Given the description of an element on the screen output the (x, y) to click on. 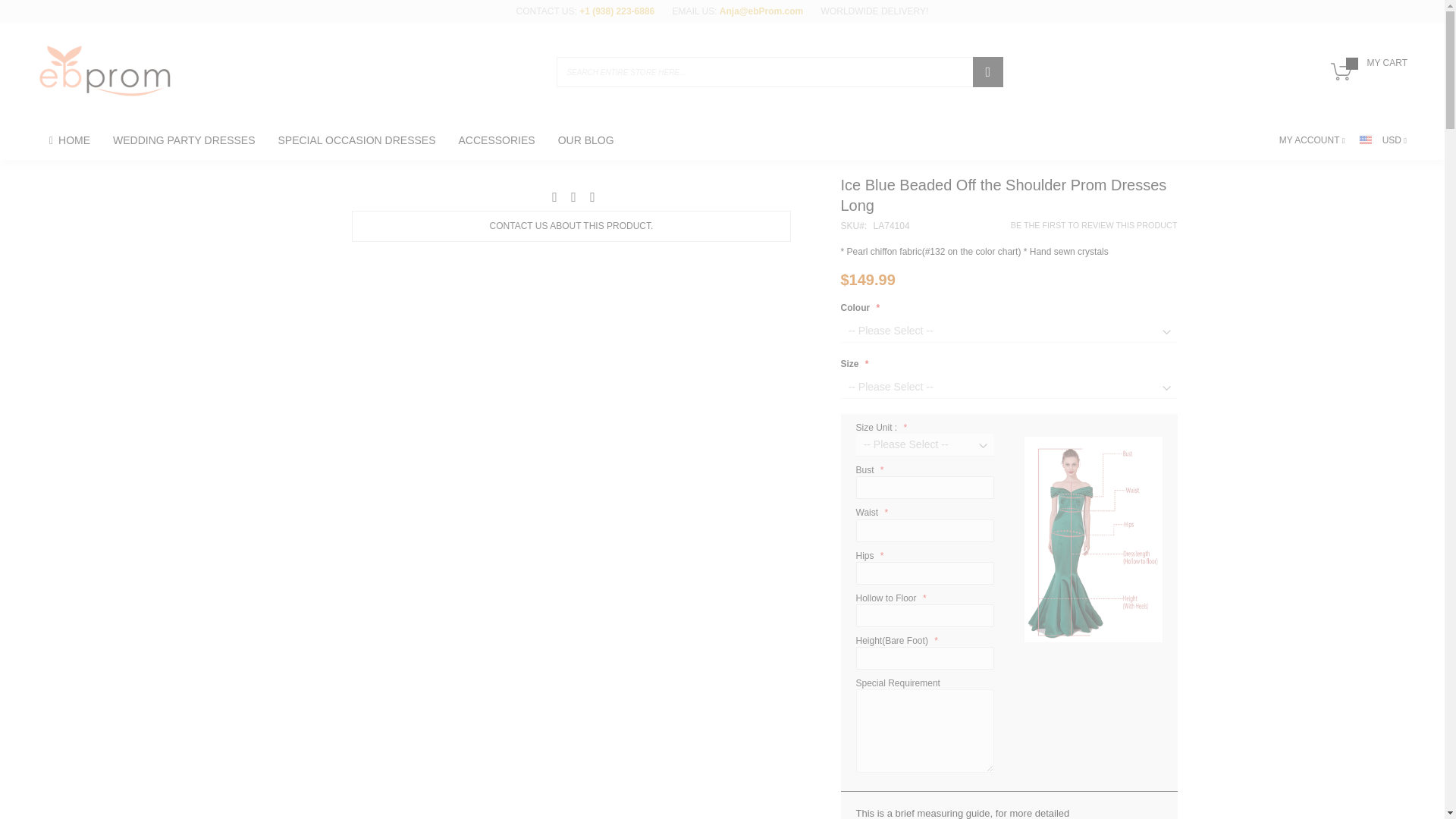
ebProm (104, 70)
SEARCH (987, 71)
WEDDING PARTY DRESSES (183, 140)
SPECIAL OCCASION DRESSES (356, 140)
Search (987, 71)
HOME (69, 140)
MY CART (1365, 77)
